Given the description of an element on the screen output the (x, y) to click on. 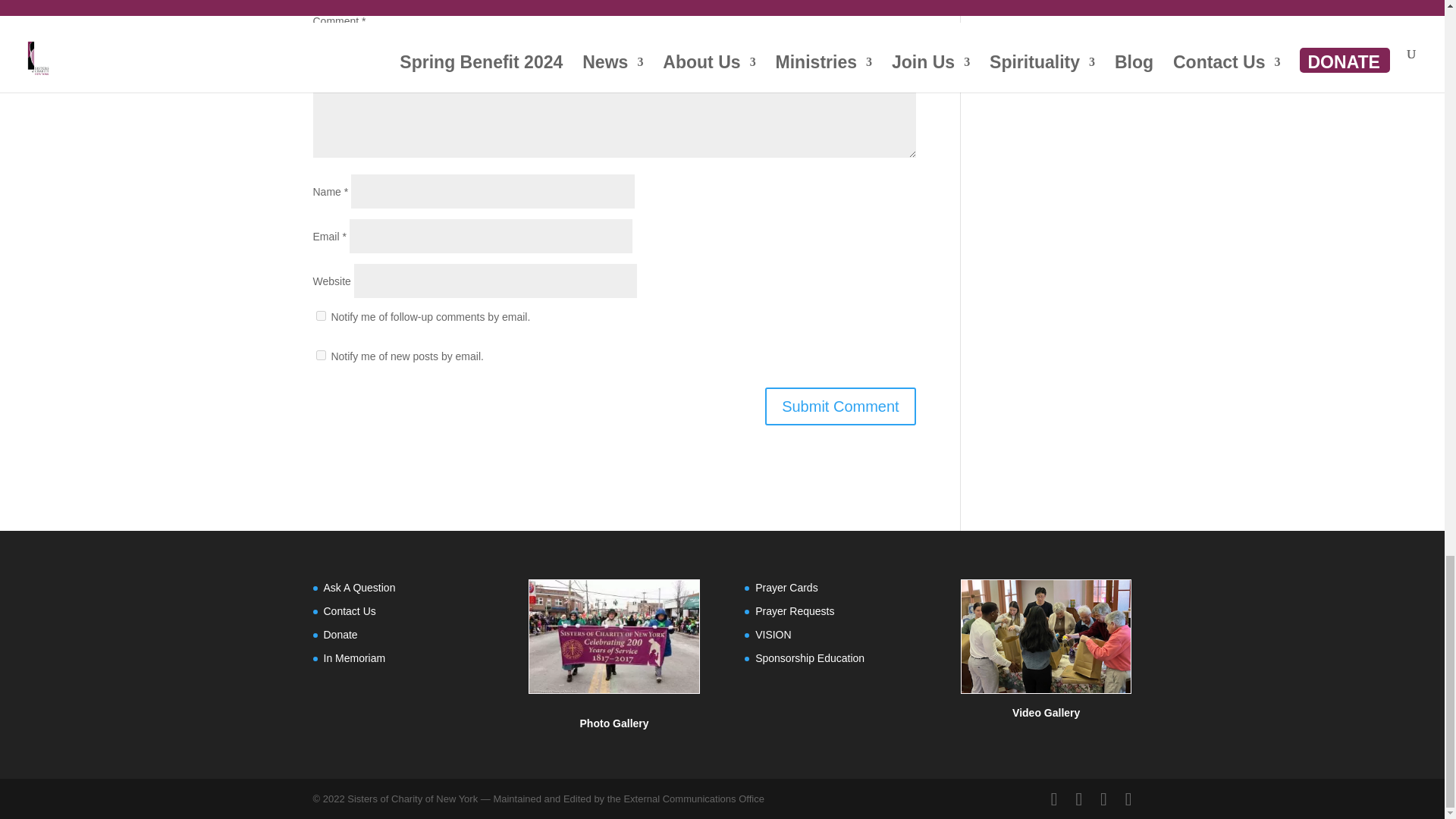
Submit Comment (840, 406)
subscribe (319, 316)
subscribe (319, 355)
Read Our VISION (772, 634)
